Given the description of an element on the screen output the (x, y) to click on. 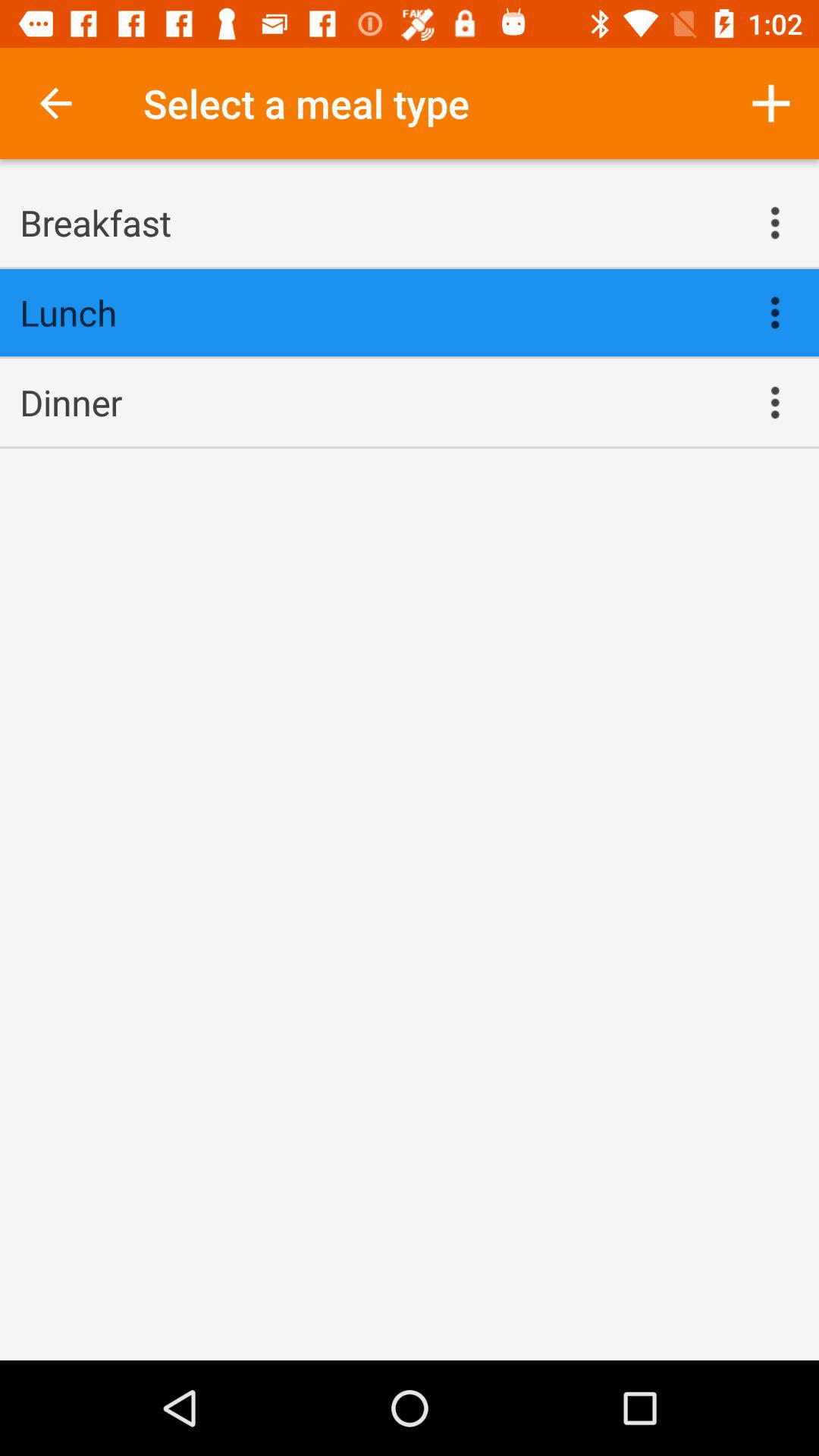
click the breakfast (375, 222)
